Given the description of an element on the screen output the (x, y) to click on. 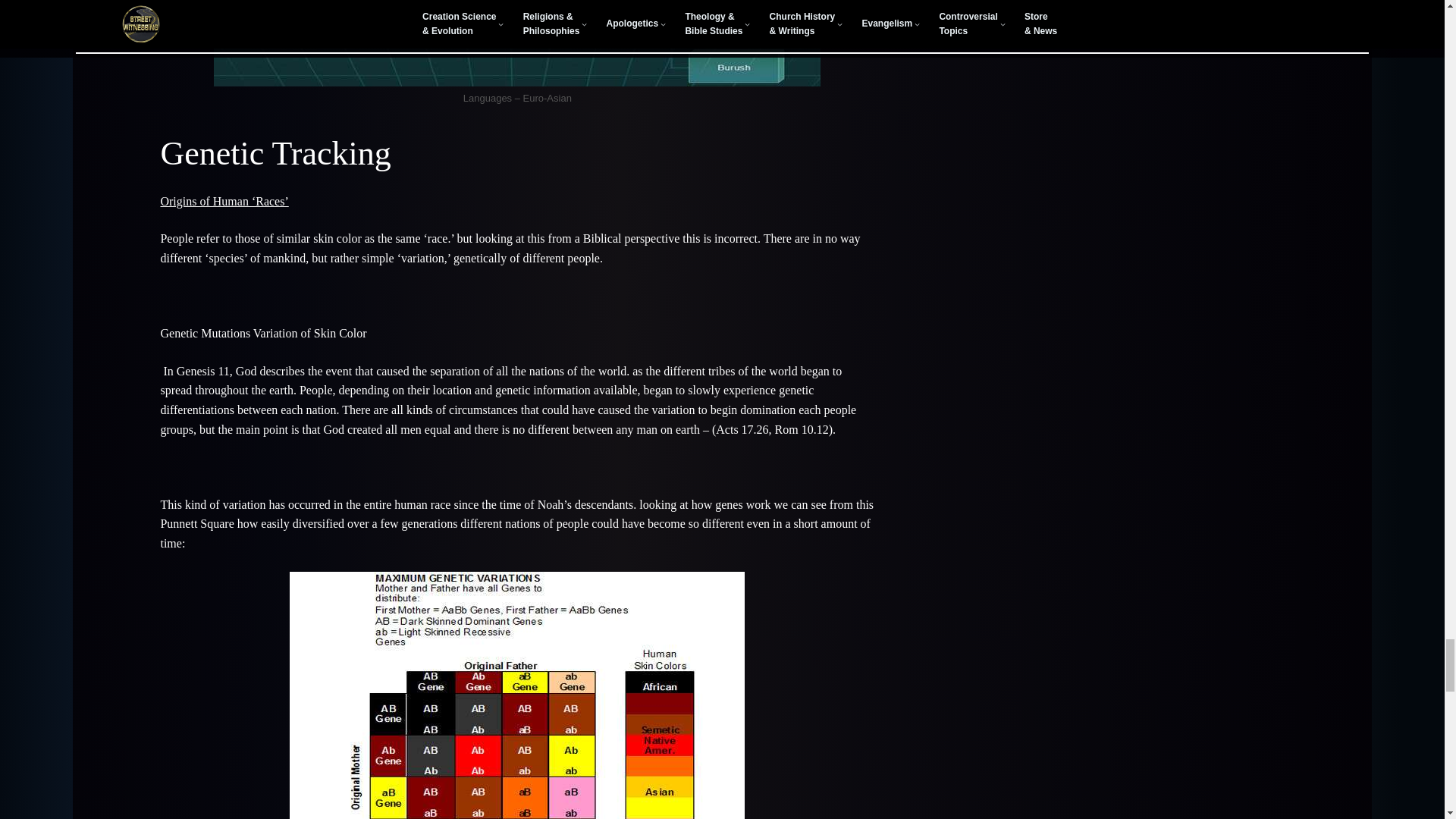
Fig.9 - Human Skin Color Variation Chart (516, 695)
Fig.8 - Euro-Asian Languages (517, 43)
